Given the description of an element on the screen output the (x, y) to click on. 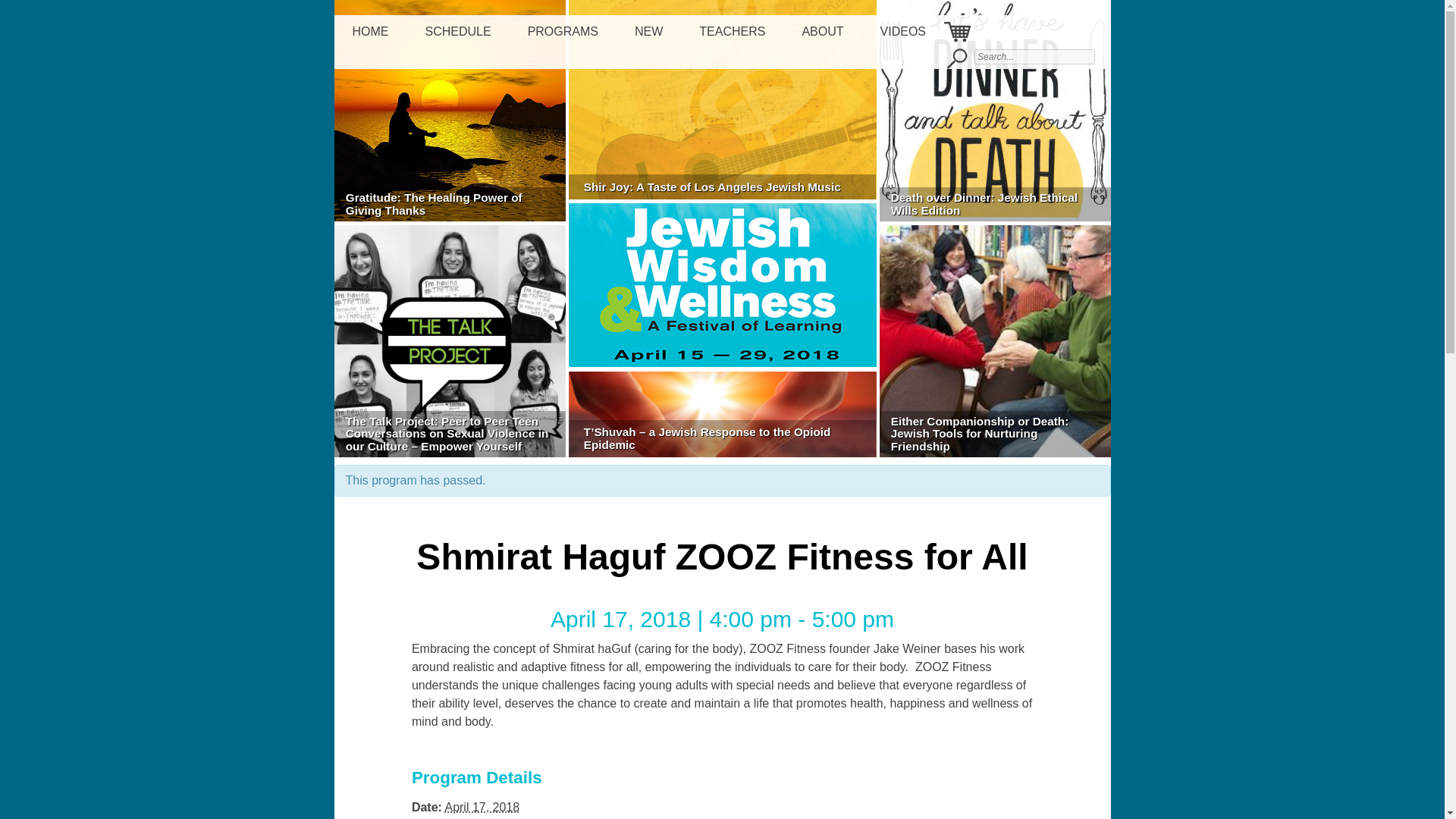
SCHEDULE (456, 31)
PROGRAMS (562, 31)
ABOUT (821, 31)
TEACHERS (732, 31)
VIDEOS (902, 31)
2018-04-17 (481, 807)
NEW (648, 31)
HOME (369, 31)
